Given the description of an element on the screen output the (x, y) to click on. 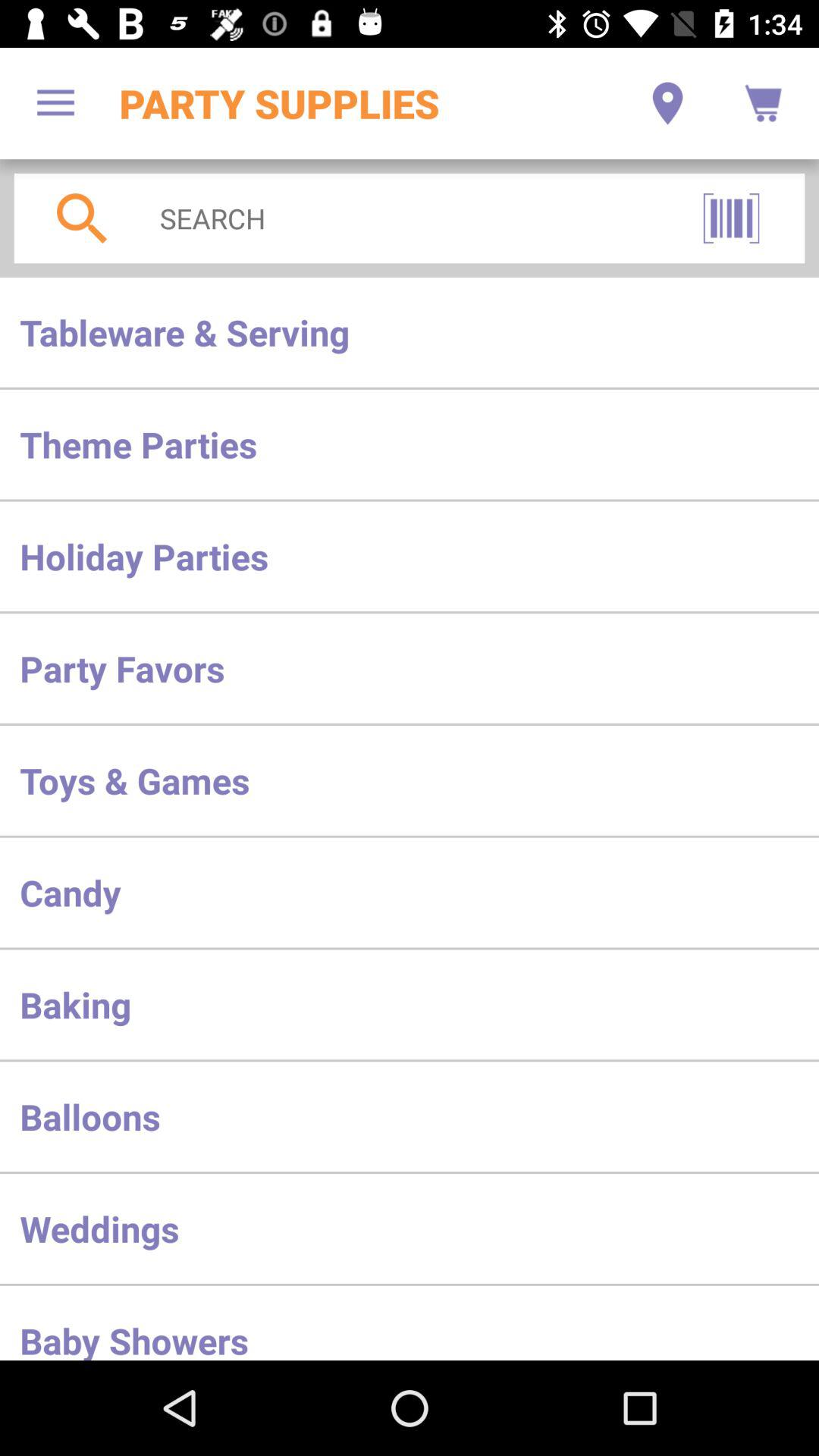
open item below the holiday parties item (409, 668)
